Given the description of an element on the screen output the (x, y) to click on. 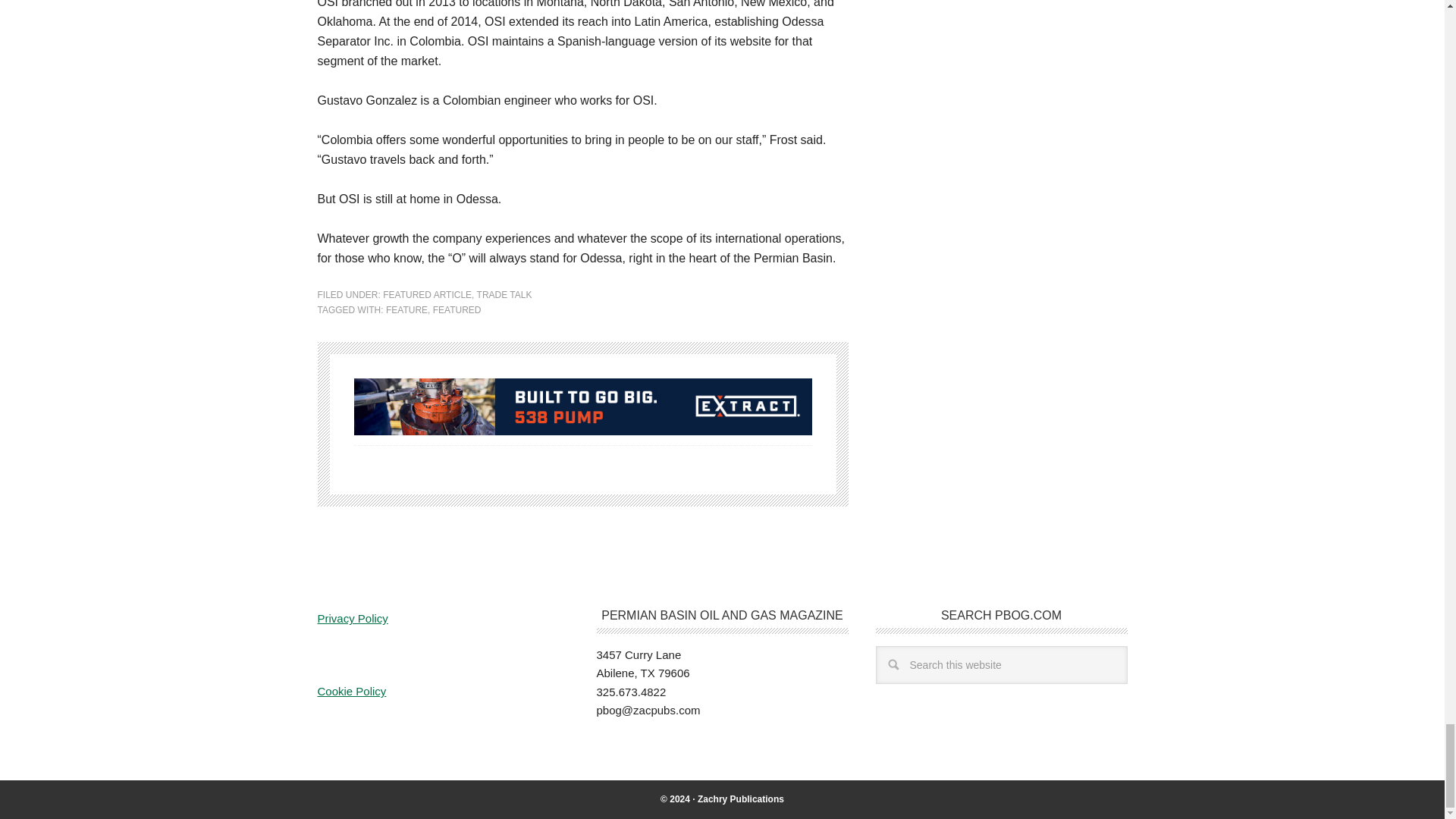
Cookie Policy  (351, 690)
Privacy Policy  (352, 617)
